Given the description of an element on the screen output the (x, y) to click on. 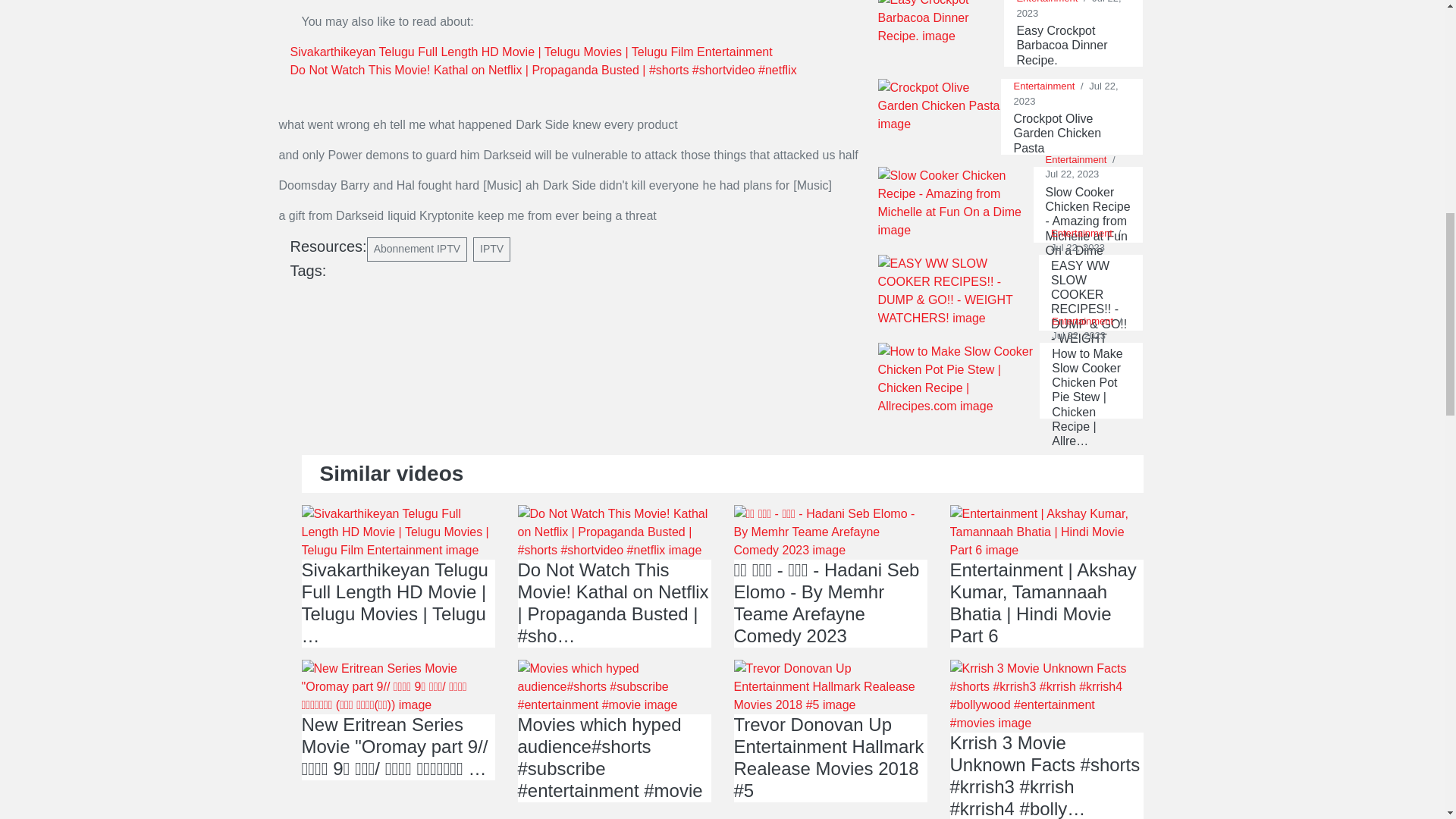
IPTV (492, 249)
Entertainment (1043, 85)
Entertainment (1081, 233)
Entertainment (1075, 159)
Crockpot Olive Garden Chicken Pasta (1072, 133)
Easy Crockpot Barbacoa Dinner Recipe. (1073, 45)
Entertainment (1082, 320)
Entertainment (1046, 2)
Abonnement IPTV (416, 249)
